Given the description of an element on the screen output the (x, y) to click on. 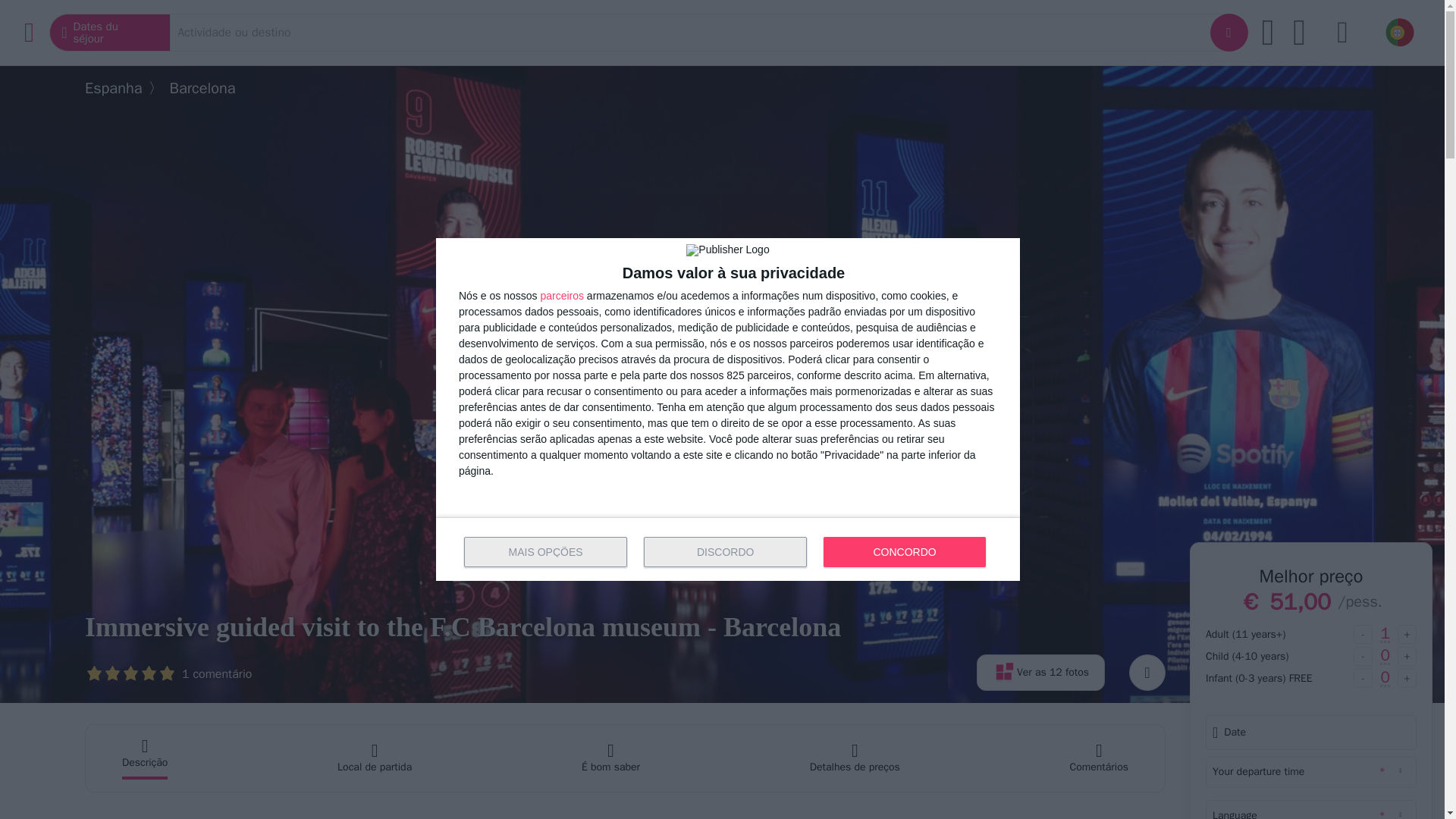
Local de partida (374, 758)
Local de partida (374, 758)
Barcelona (202, 87)
CONCORDO (904, 552)
Ver as 12 fotos (1040, 672)
parceiros (561, 295)
DISCORDO (724, 552)
Espanha (113, 87)
